Given the description of an element on the screen output the (x, y) to click on. 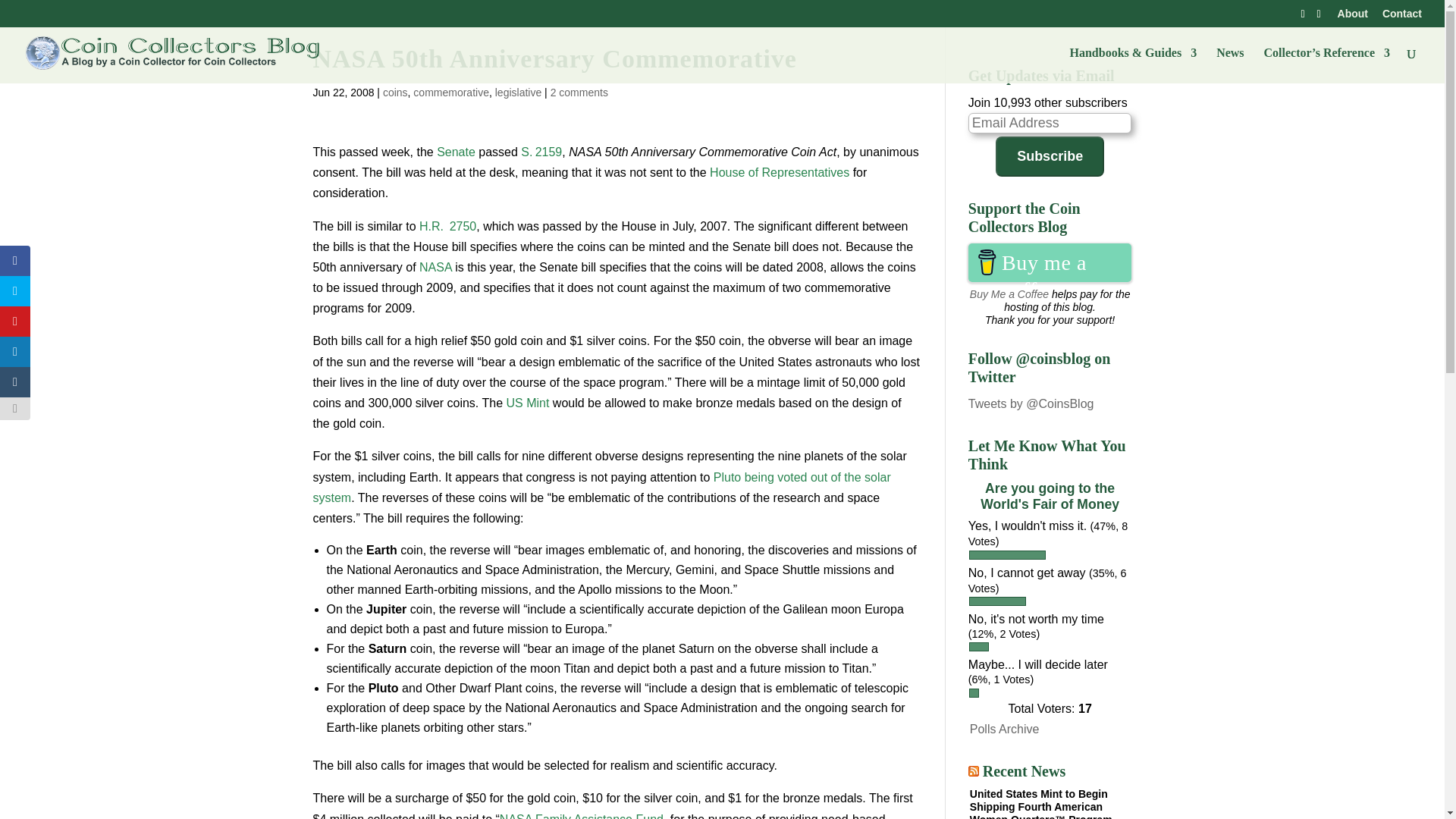
coins (394, 92)
About (1353, 16)
Senate (456, 151)
Contact (1401, 16)
NASA Family Assistance Fund (581, 816)
NASA (435, 267)
House of Representatives (779, 172)
legislative (518, 92)
US Mint (526, 402)
